Given the description of an element on the screen output the (x, y) to click on. 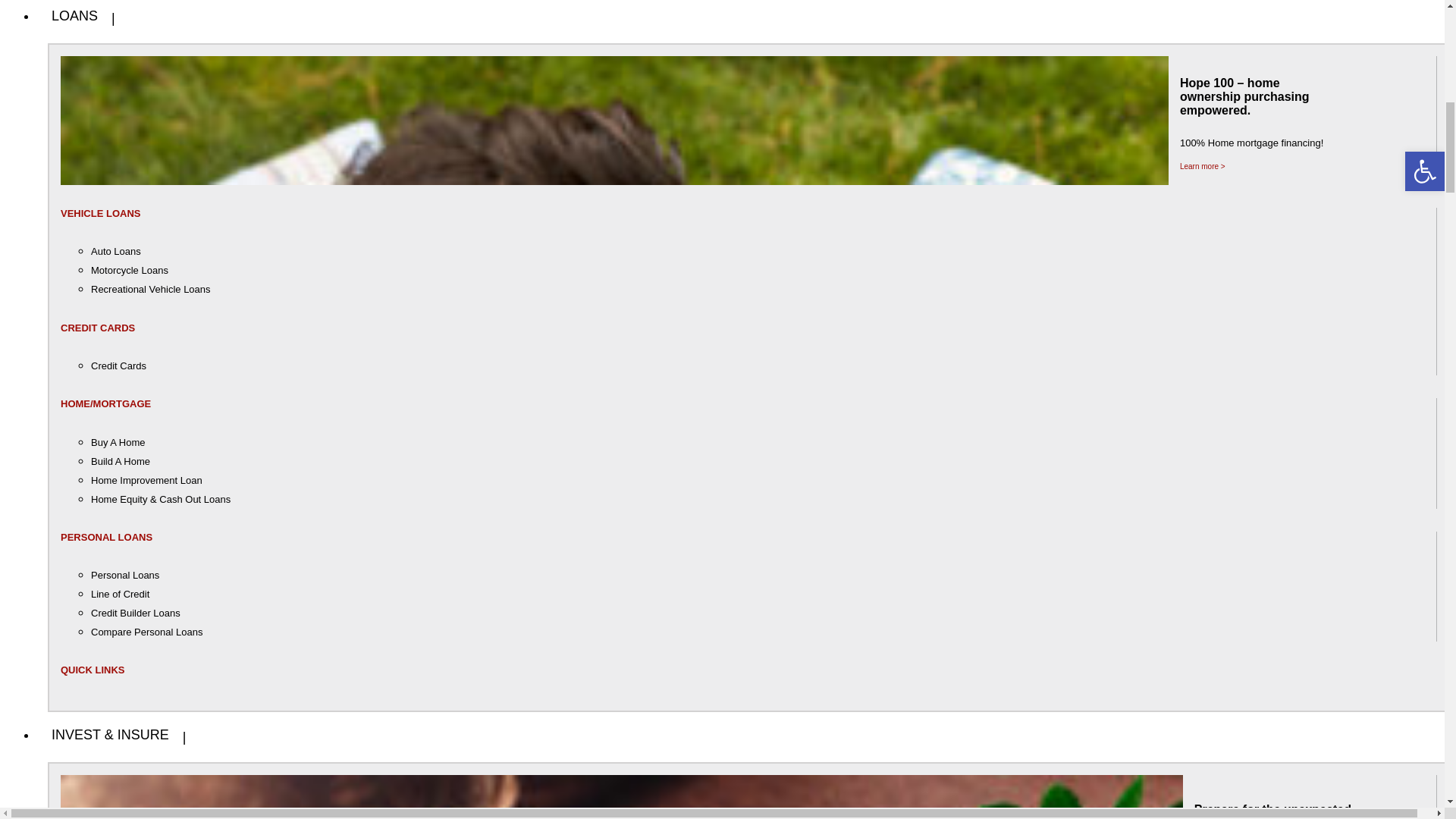
LOANS (76, 27)
